Given the description of an element on the screen output the (x, y) to click on. 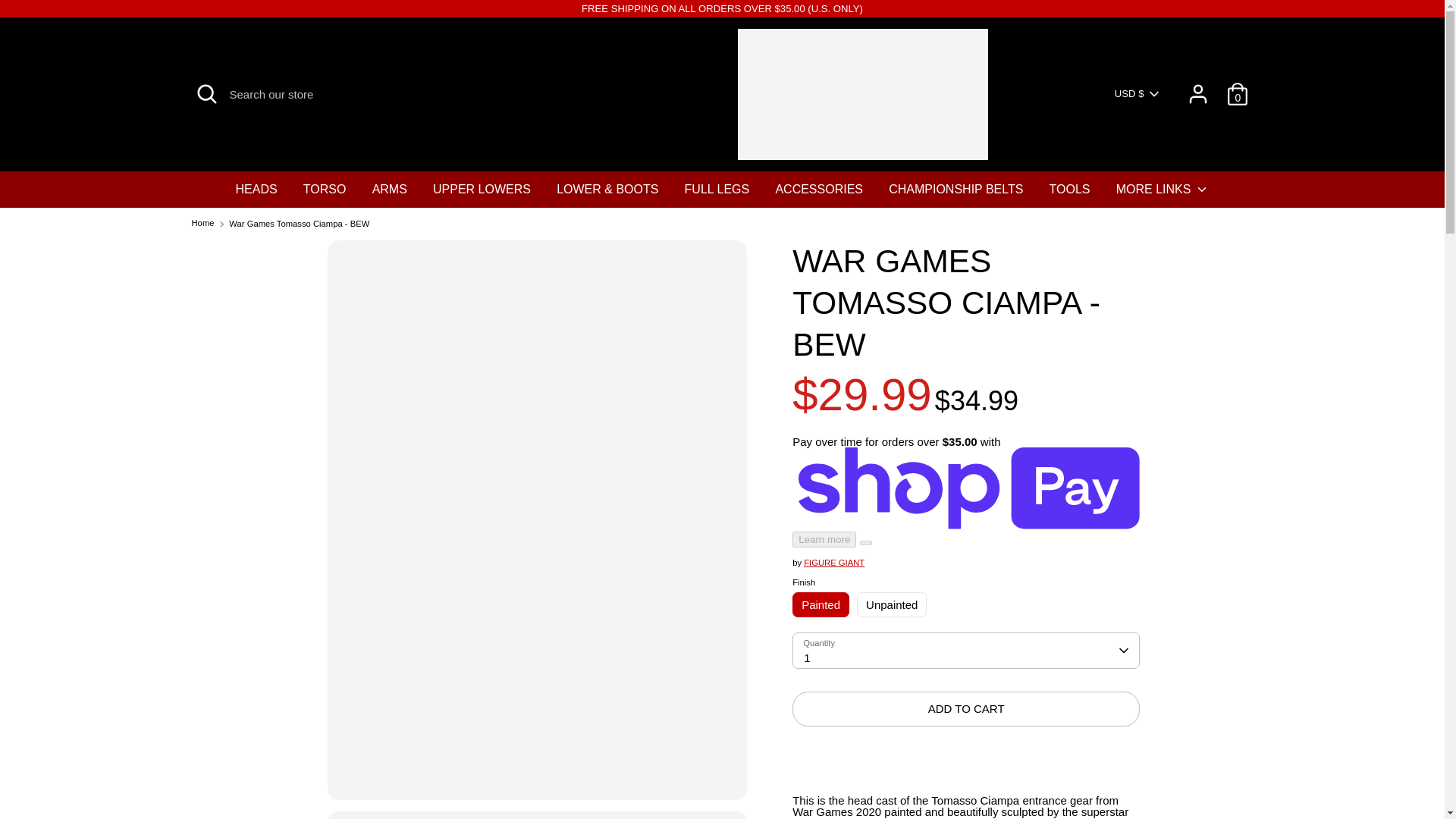
1 (965, 651)
